Given the description of an element on the screen output the (x, y) to click on. 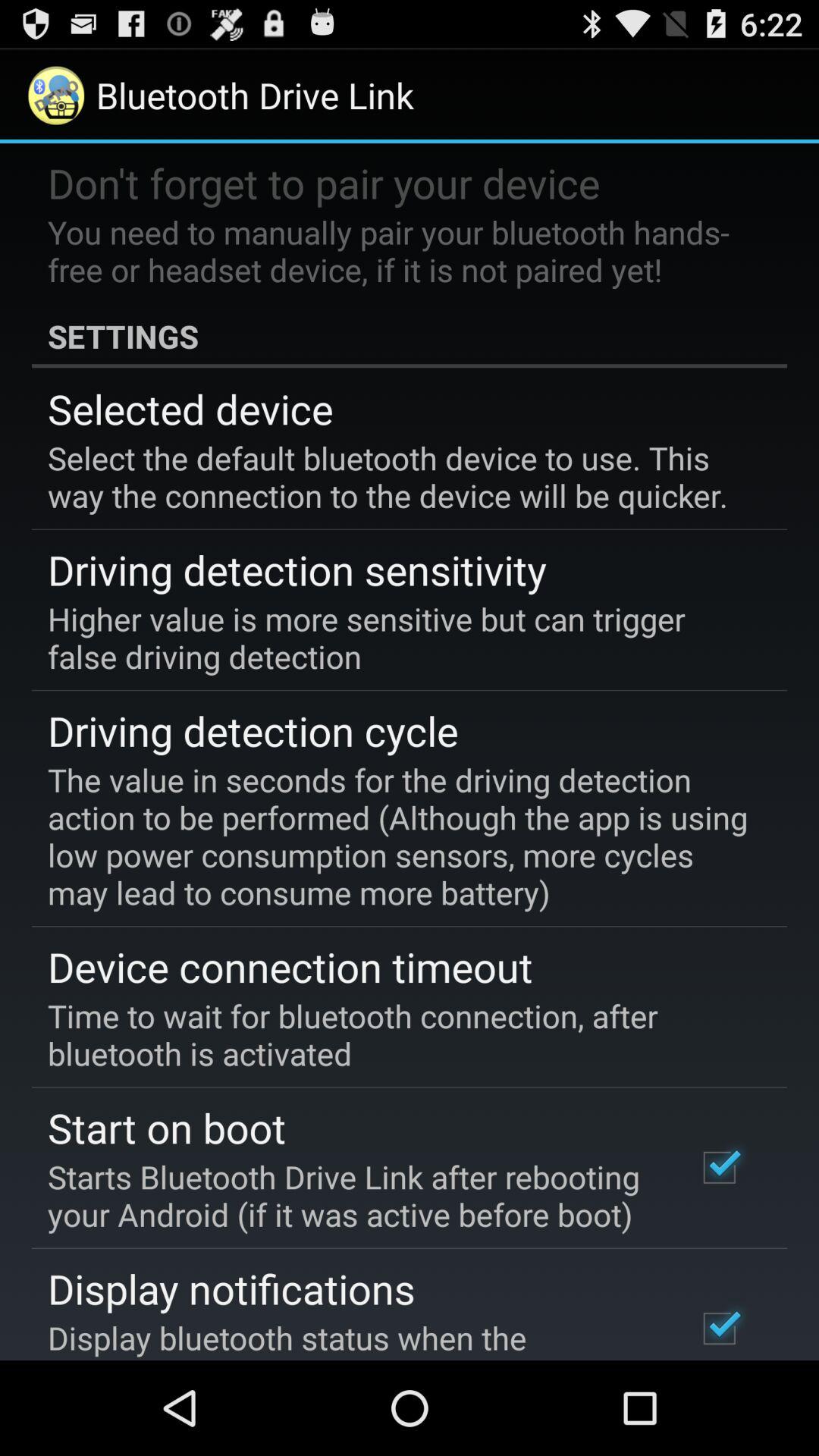
turn on app below time to wait (166, 1127)
